Given the description of an element on the screen output the (x, y) to click on. 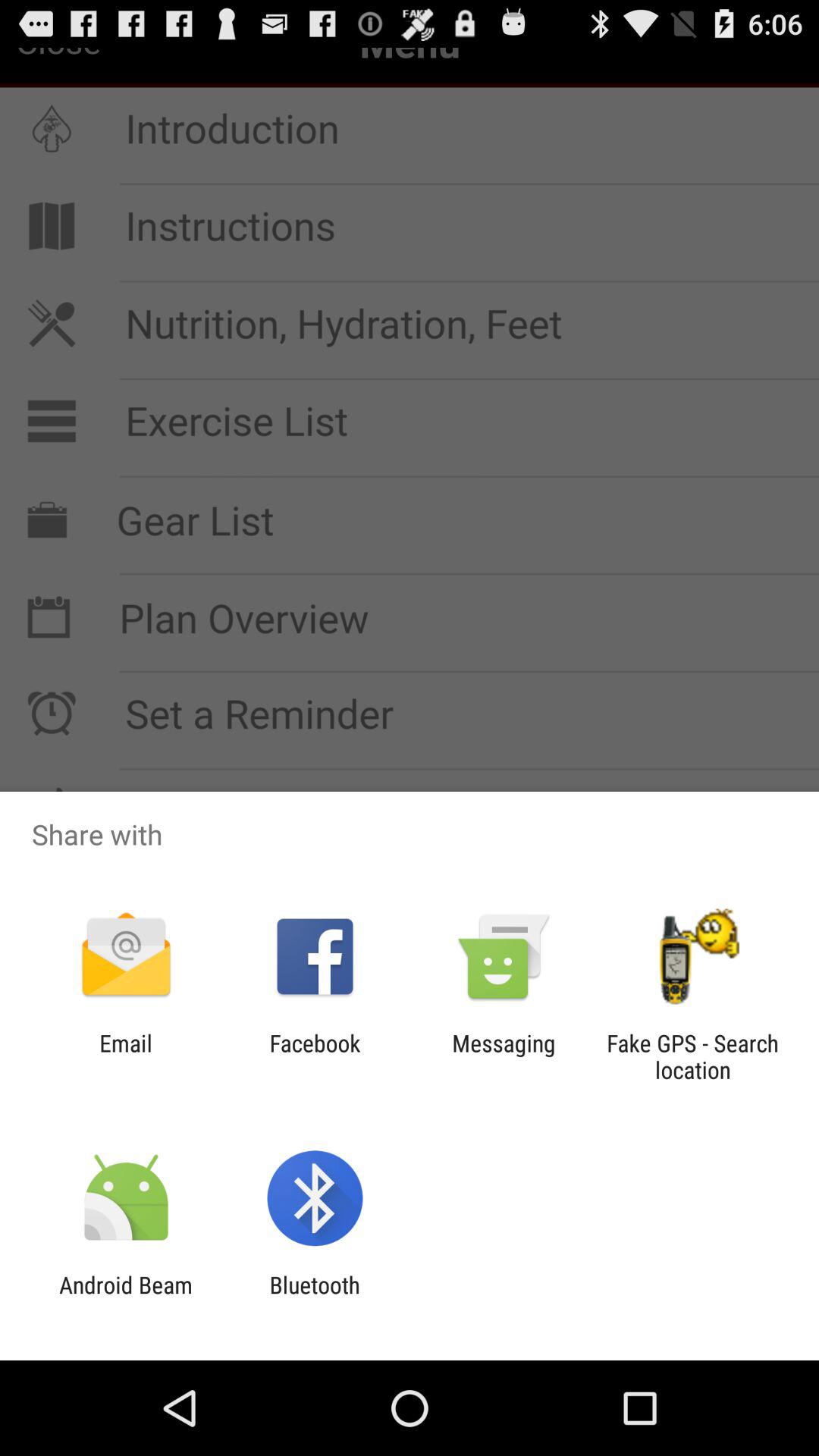
launch icon at the bottom right corner (692, 1056)
